Given the description of an element on the screen output the (x, y) to click on. 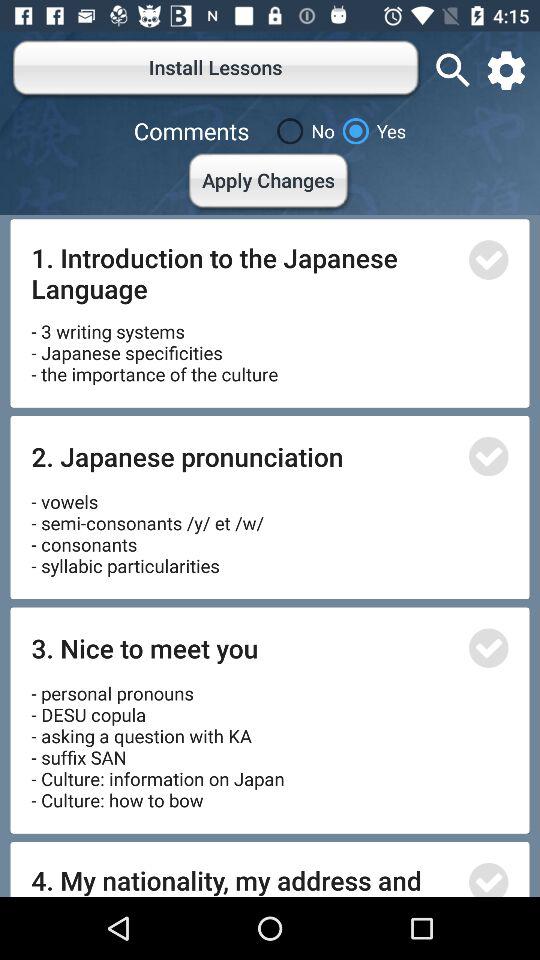
choose the item to the left of yes item (301, 131)
